Given the description of an element on the screen output the (x, y) to click on. 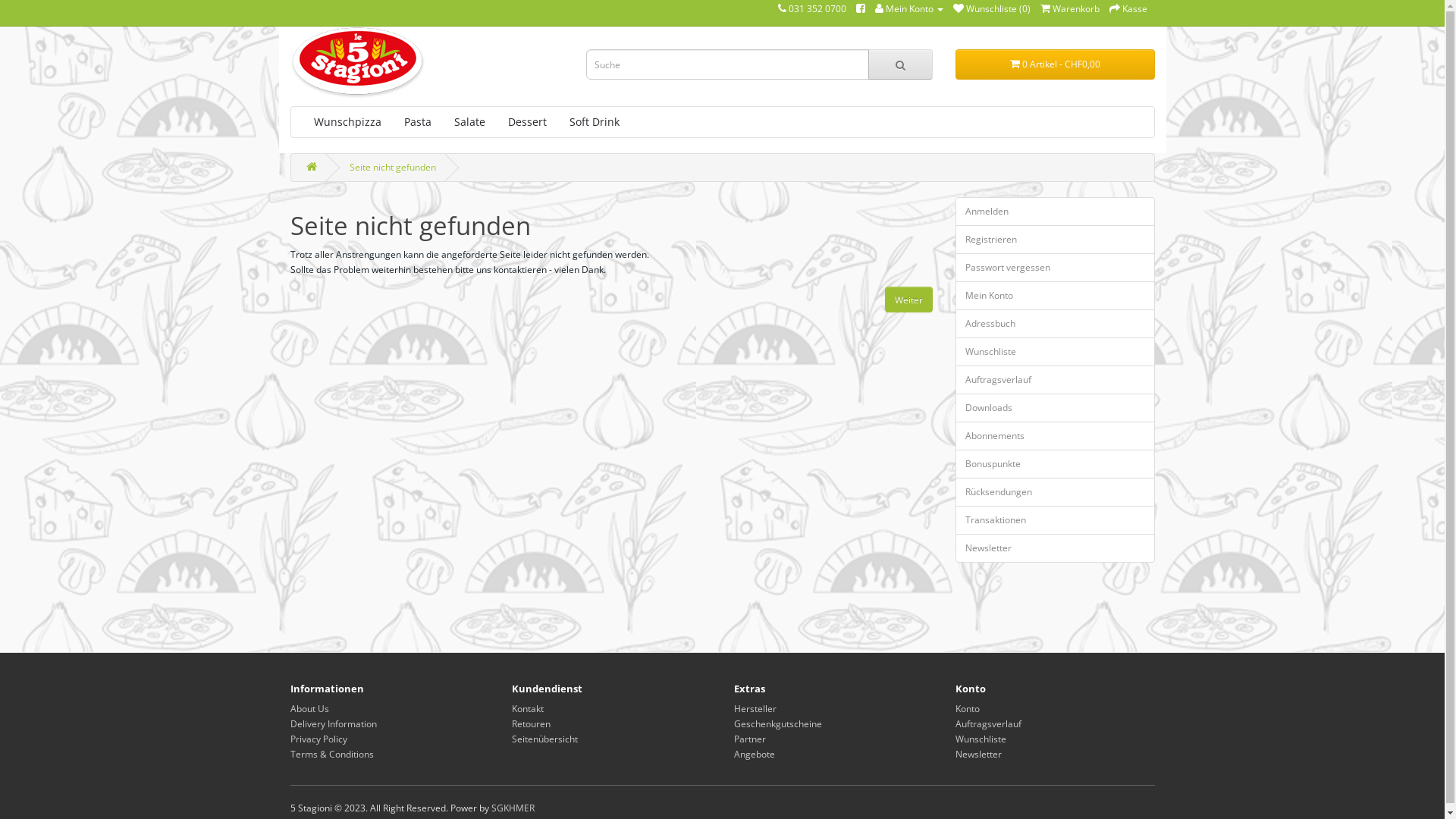
5 Stagioni Element type: hover (356, 62)
Dessert Element type: text (526, 121)
SGKHMER Element type: text (512, 807)
Weiter Element type: text (908, 299)
Wunschliste (0) Element type: text (990, 8)
Find Us On Facebook Element type: hover (859, 8)
Kasse Element type: text (1127, 8)
Wunschliste Element type: text (1054, 351)
Wunschpizza Element type: text (346, 121)
Kontakt Element type: text (527, 708)
Terms & Conditions Element type: text (331, 753)
About Us Element type: text (308, 708)
Mein Konto Element type: text (1054, 295)
Retouren Element type: text (530, 723)
0 Artikel - CHF0,00 Element type: text (1054, 64)
Geschenkgutscheine Element type: text (778, 723)
Partner Element type: text (749, 738)
Anmelden Element type: text (1054, 211)
Auftragsverlauf Element type: text (988, 723)
Registrieren Element type: text (1054, 239)
Hersteller Element type: text (755, 708)
Soft Drink Element type: text (594, 121)
Downloads Element type: text (1054, 407)
Newsletter Element type: text (978, 753)
Delivery Information Element type: text (332, 723)
Warenkorb Element type: text (1069, 8)
Salate Element type: text (469, 121)
Passwort vergessen Element type: text (1054, 267)
Abonnements Element type: text (1054, 435)
Adressbuch Element type: text (1054, 323)
Transaktionen Element type: text (1054, 519)
Angebote Element type: text (754, 753)
Mein Konto Element type: text (909, 8)
Newsletter Element type: text (1054, 547)
Pasta Element type: text (417, 121)
Privacy Policy Element type: text (317, 738)
Auftragsverlauf Element type: text (1054, 379)
Bonuspunkte Element type: text (1054, 463)
Seite nicht gefunden Element type: text (391, 166)
Wunschliste Element type: text (980, 738)
Konto Element type: text (967, 708)
